Given the description of an element on the screen output the (x, y) to click on. 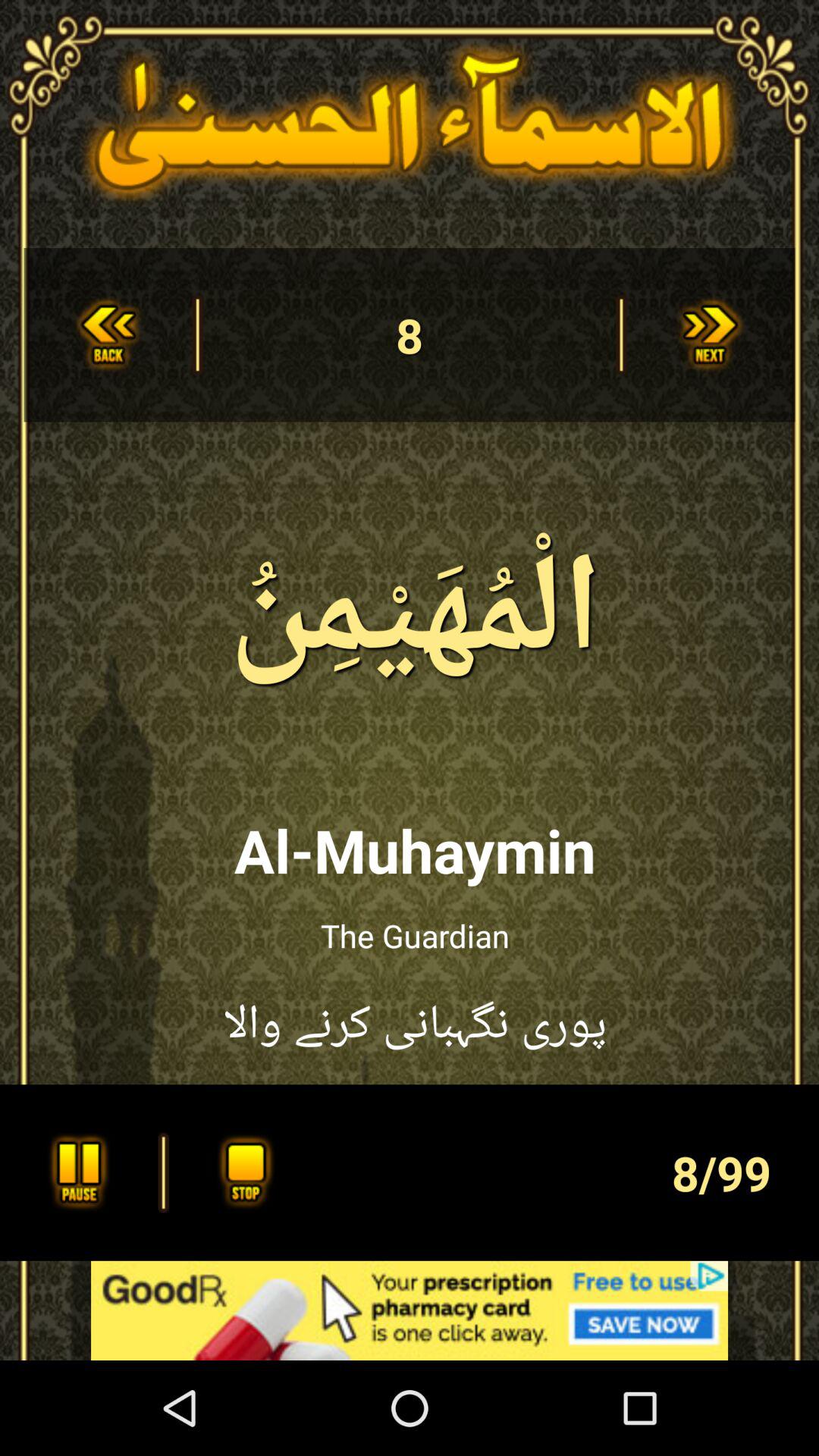
go next option (710, 334)
